Given the description of an element on the screen output the (x, y) to click on. 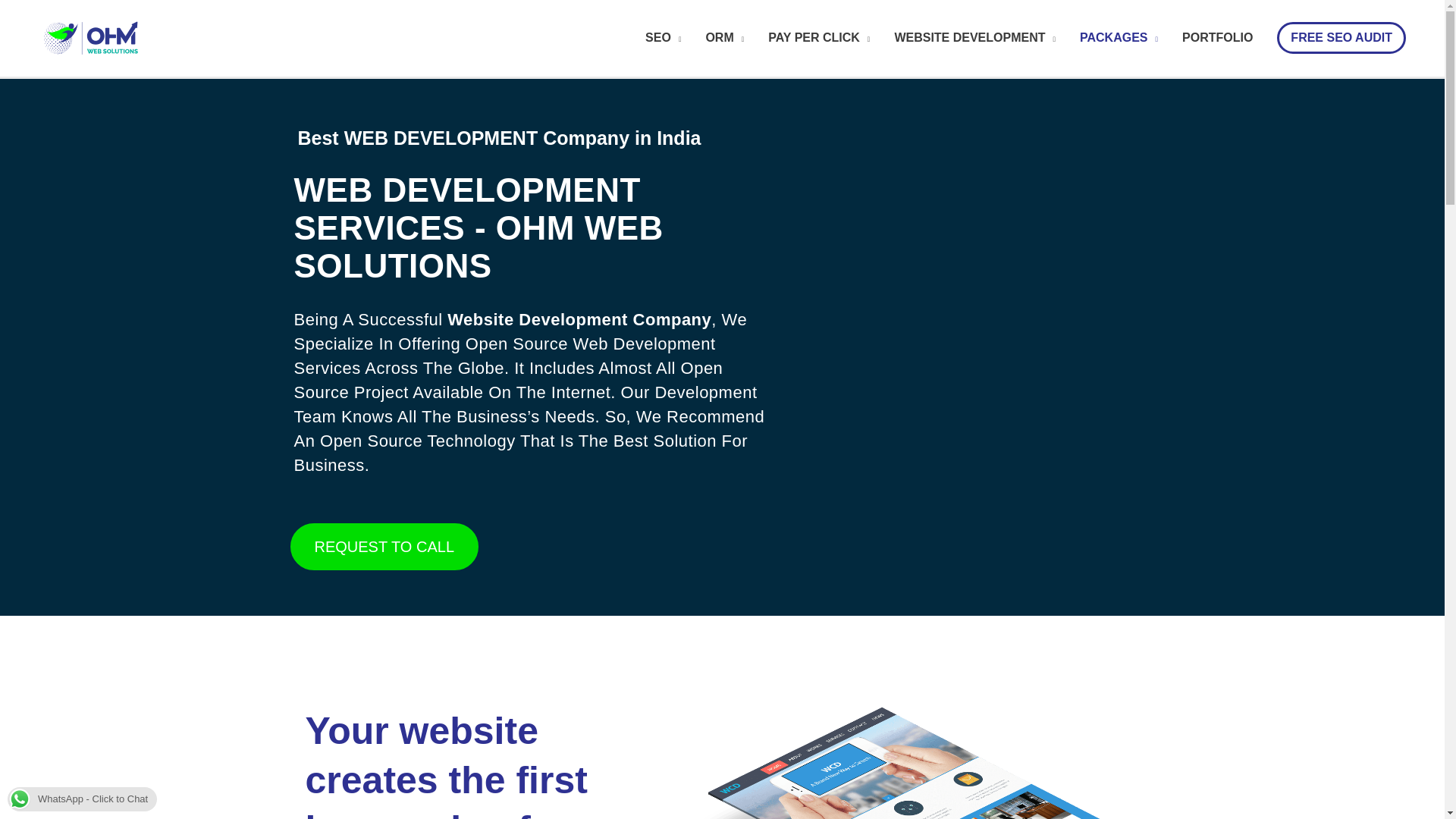
SEO (663, 37)
PORTFOLIO (1217, 37)
ORM (724, 37)
WEBSITE DEVELOPMENT (974, 37)
PAY PER CLICK (818, 37)
PACKAGES (1118, 37)
